Given the description of an element on the screen output the (x, y) to click on. 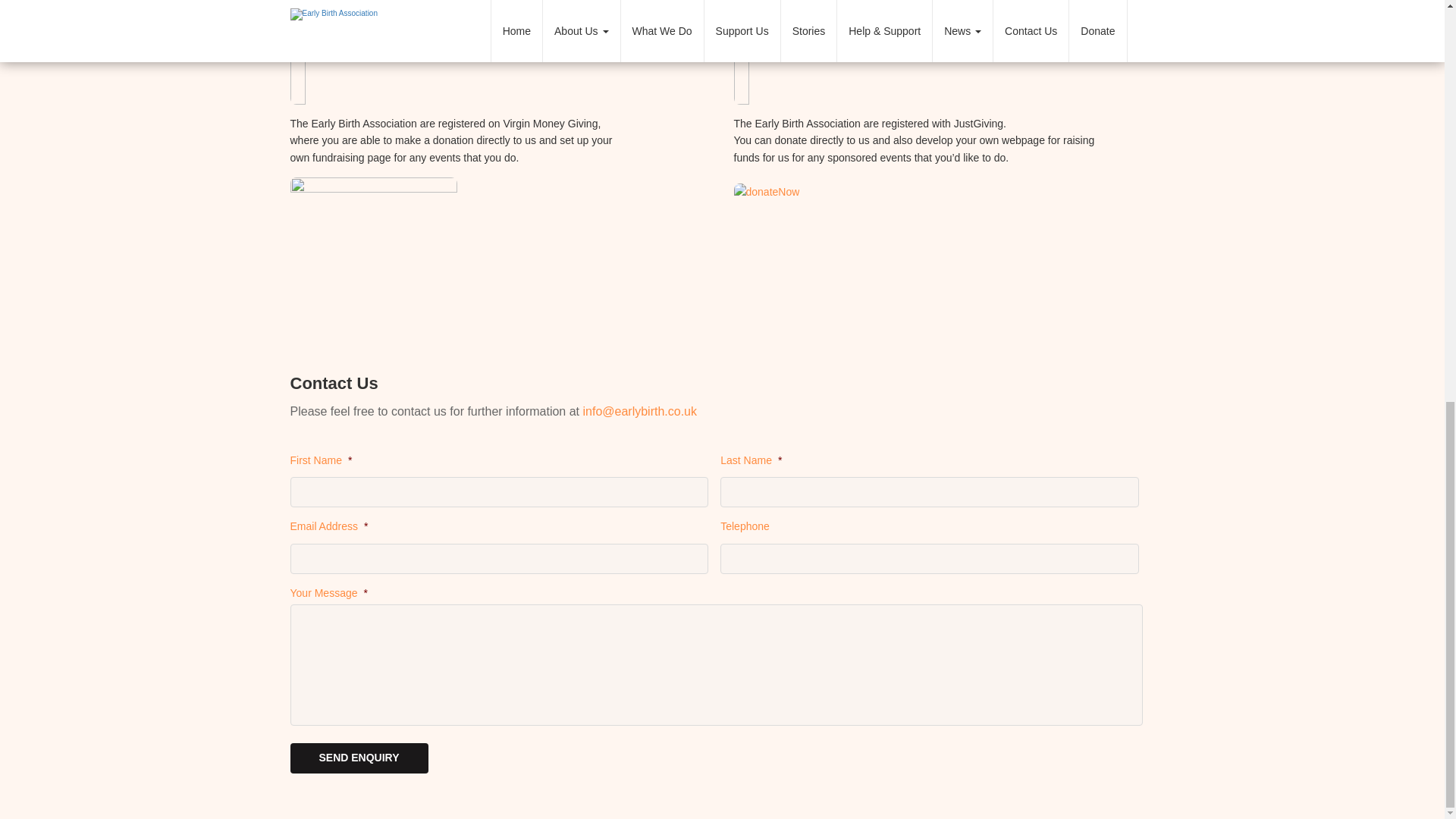
SEND ENQUIRY (358, 757)
SEND ENQUIRY (358, 757)
